Given the description of an element on the screen output the (x, y) to click on. 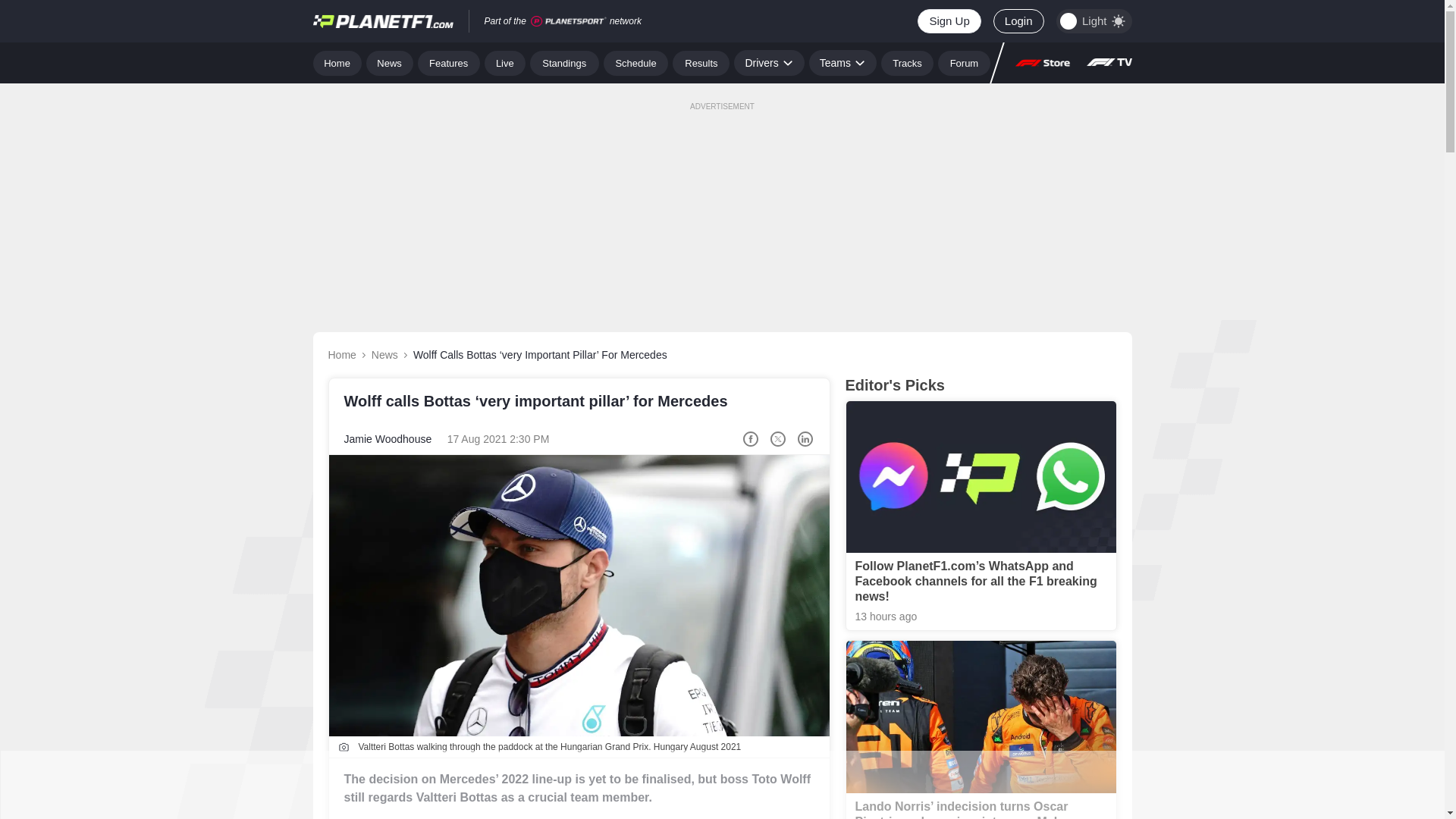
Live (504, 62)
Sign Up (948, 21)
Features (448, 62)
Results (700, 62)
Standings (563, 62)
Login (1017, 21)
Teams (842, 62)
Schedule (636, 62)
Home (337, 62)
News (389, 62)
3rd party ad content (721, 203)
3rd party ad content (721, 785)
Drivers (768, 62)
